Given the description of an element on the screen output the (x, y) to click on. 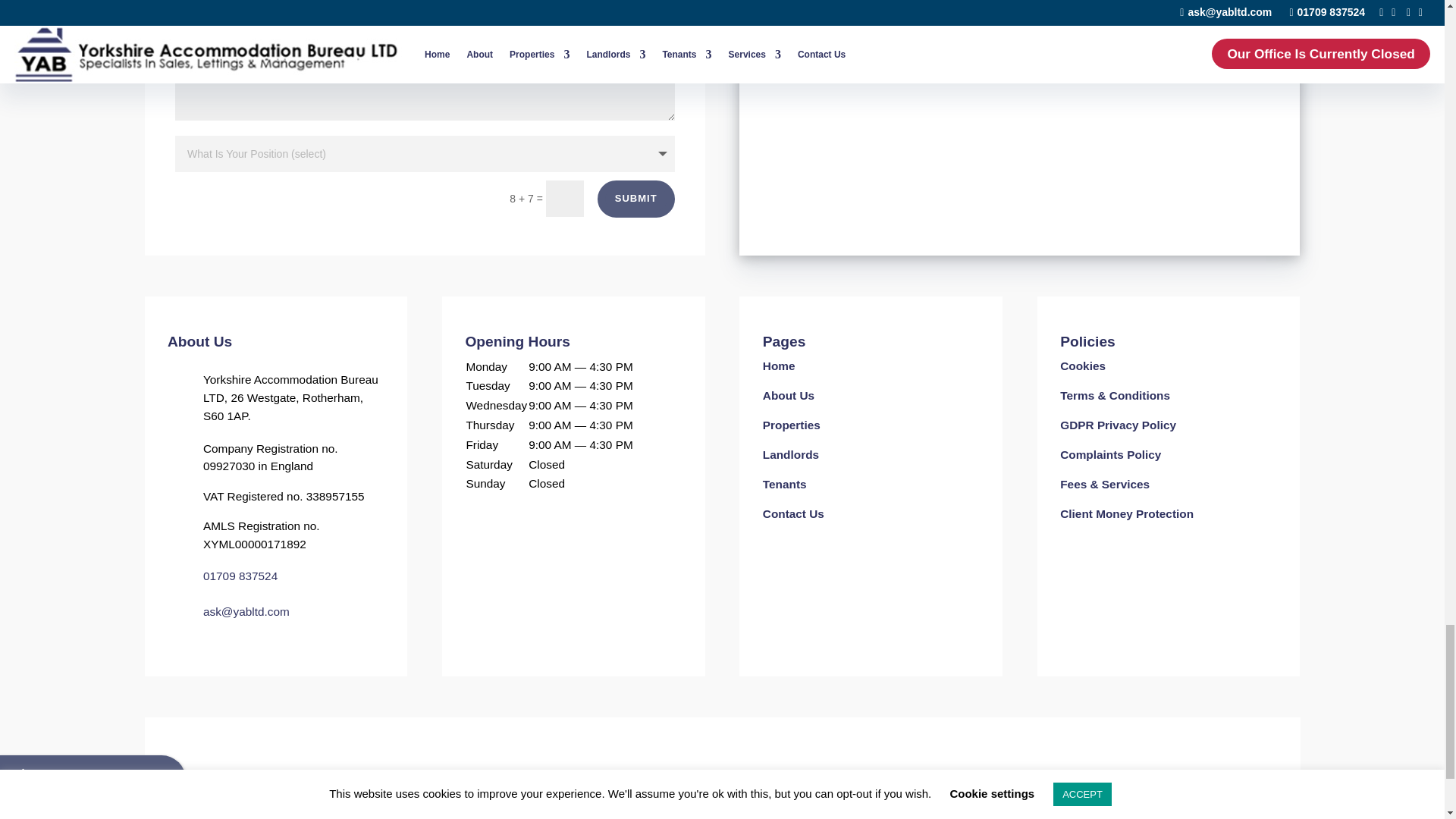
Follow on Youtube (818, 784)
Follow on Facebook (618, 784)
Follow on Instagram (690, 784)
Follow on X (754, 784)
